Given the description of an element on the screen output the (x, y) to click on. 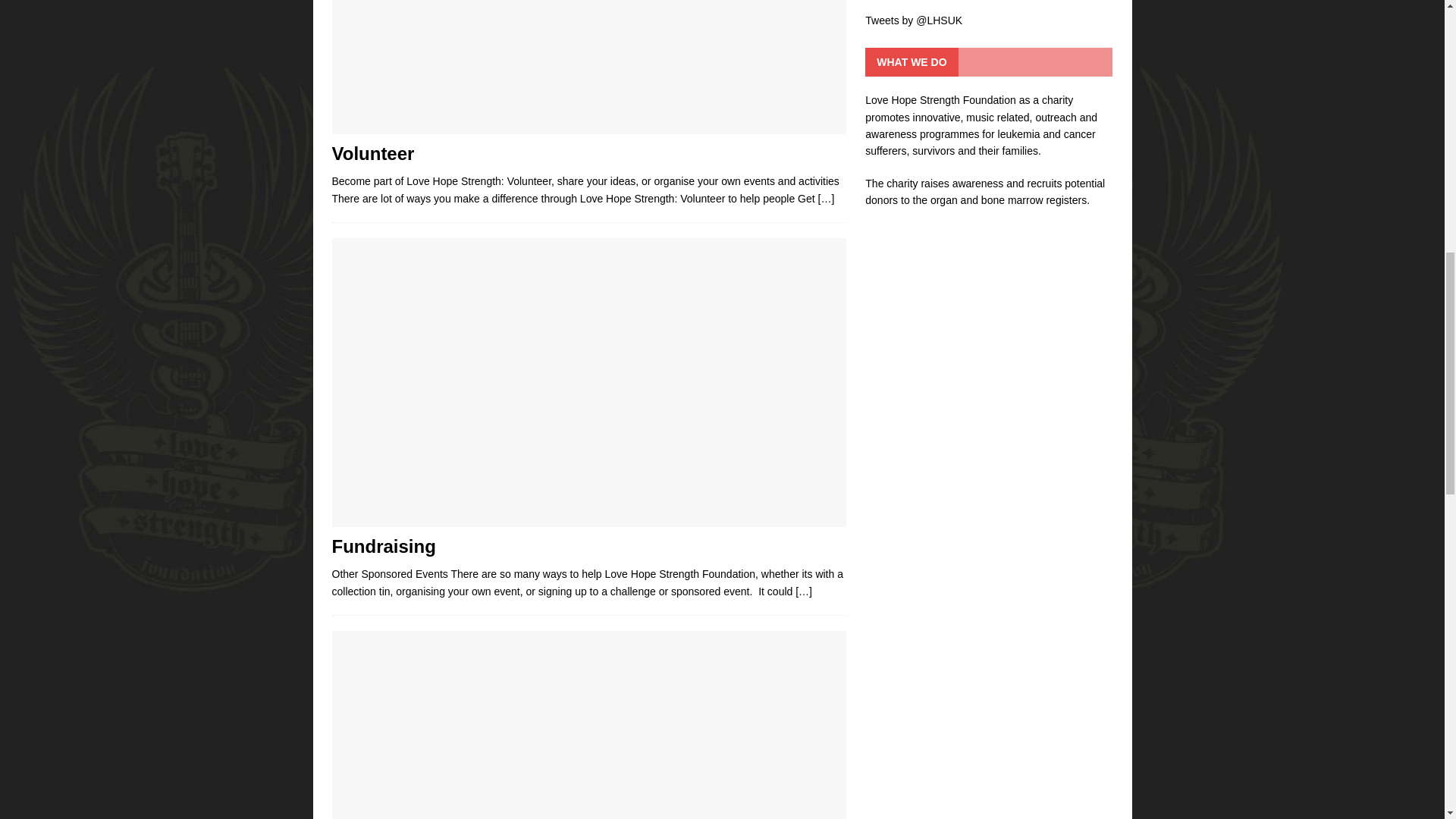
Volunteer (372, 153)
Fundraising (803, 591)
Volunteer (588, 67)
Corporate Partners (588, 724)
Volunteer (826, 198)
Fundraising (383, 546)
